Given the description of an element on the screen output the (x, y) to click on. 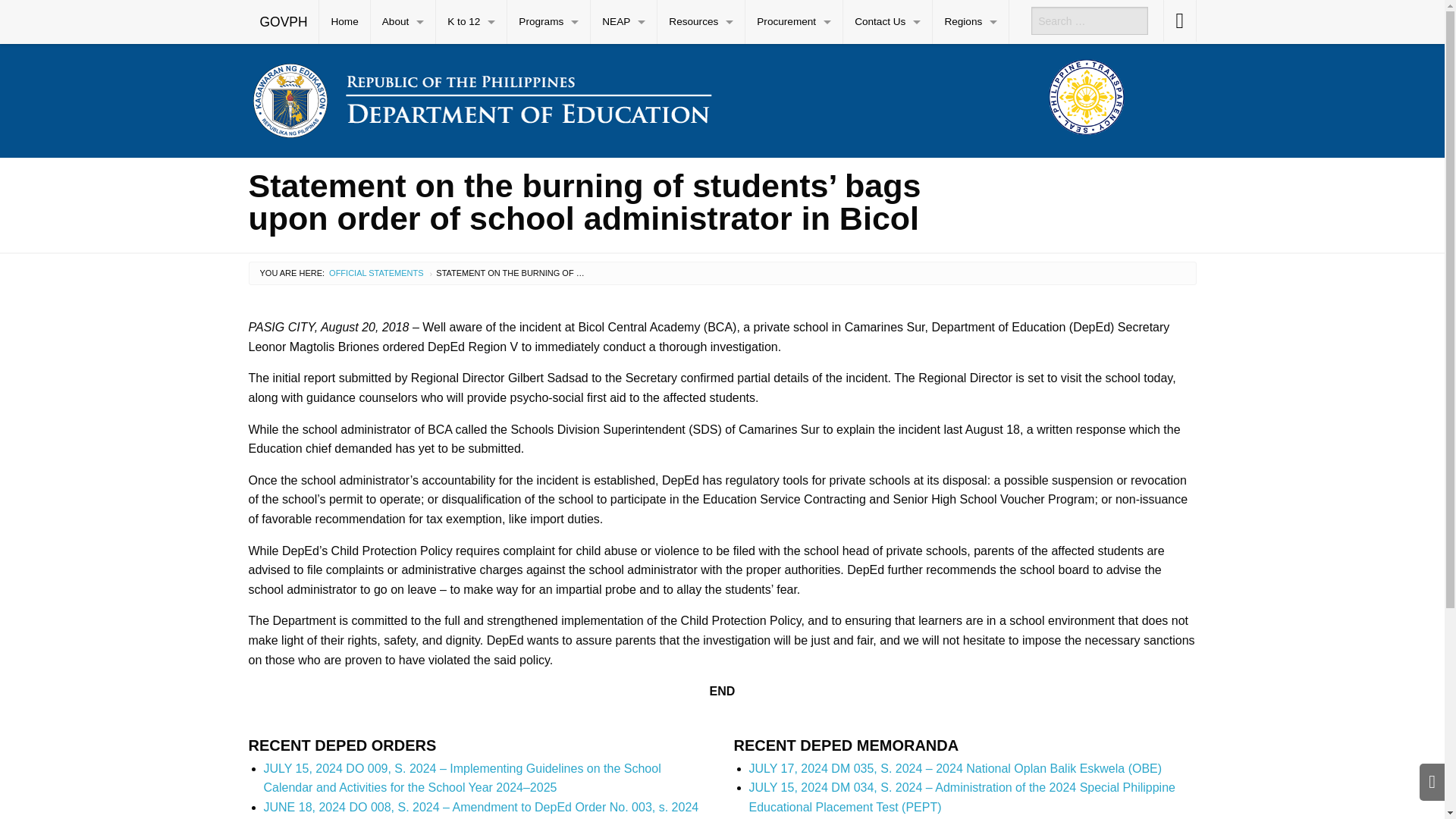
Transparency Seal (1086, 96)
Department of Education (481, 97)
Search for: (1089, 20)
